Given the description of an element on the screen output the (x, y) to click on. 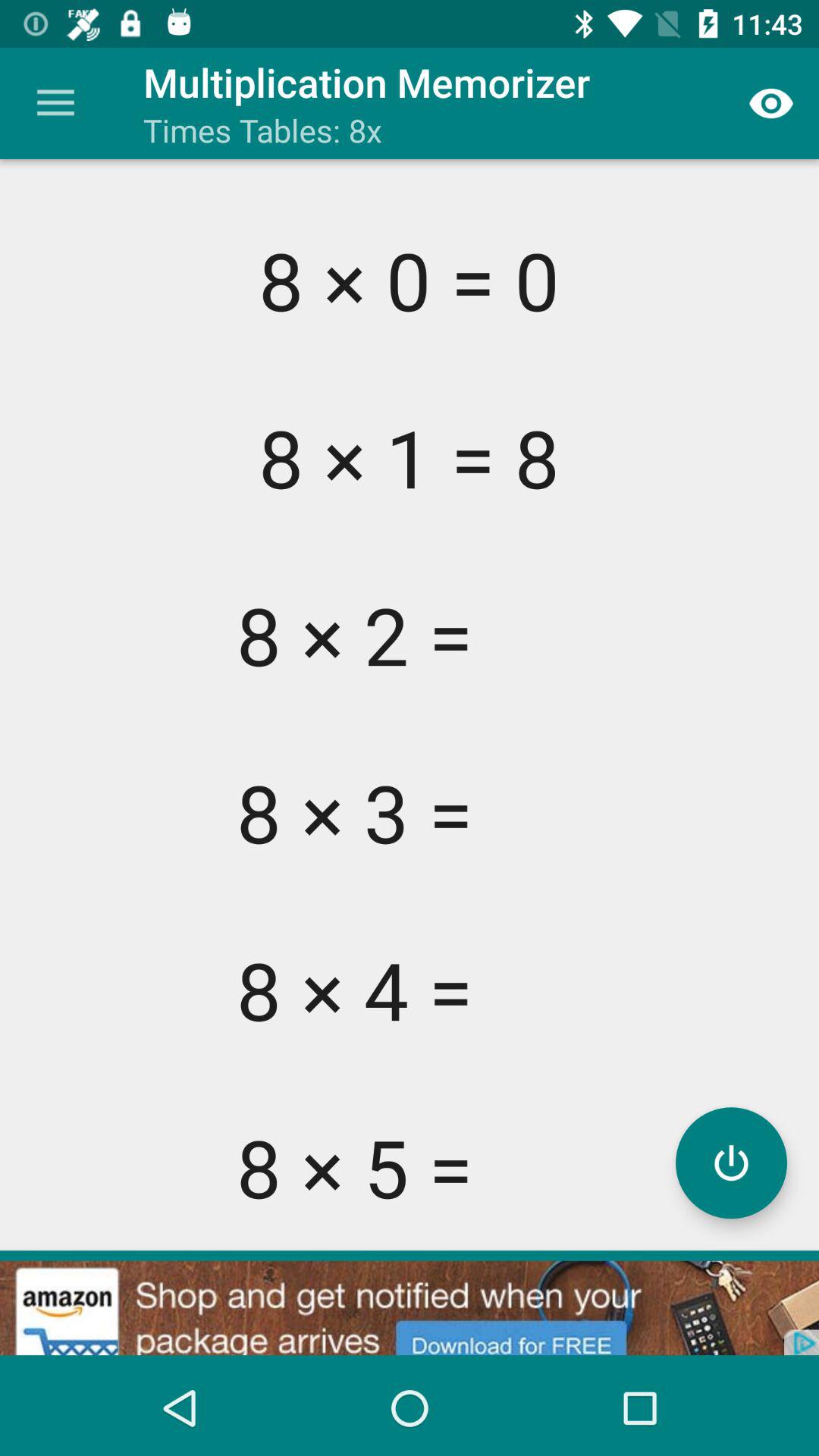
turn off (731, 1162)
